Given the description of an element on the screen output the (x, y) to click on. 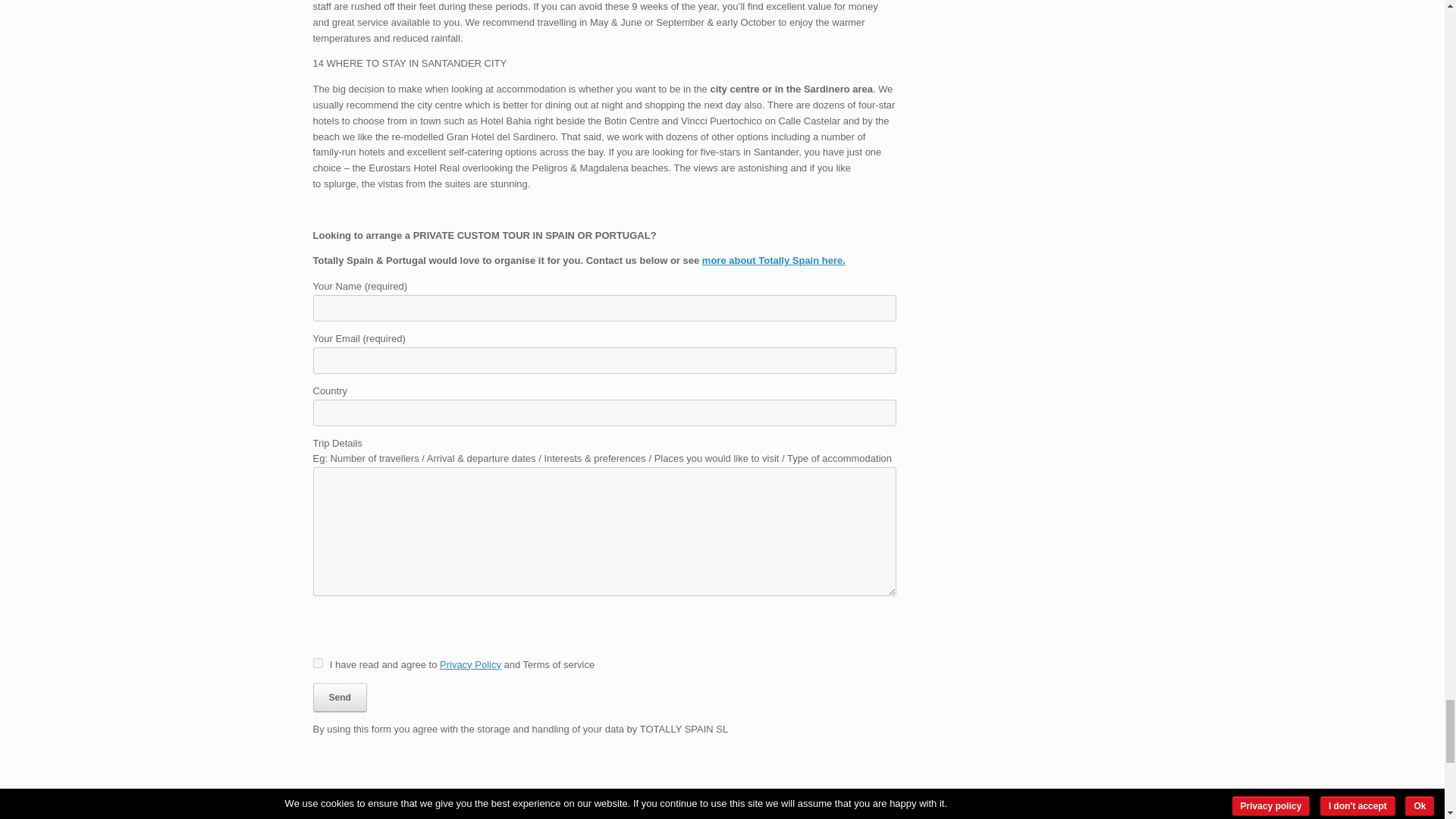
Send (339, 697)
1 (317, 663)
